Given the description of an element on the screen output the (x, y) to click on. 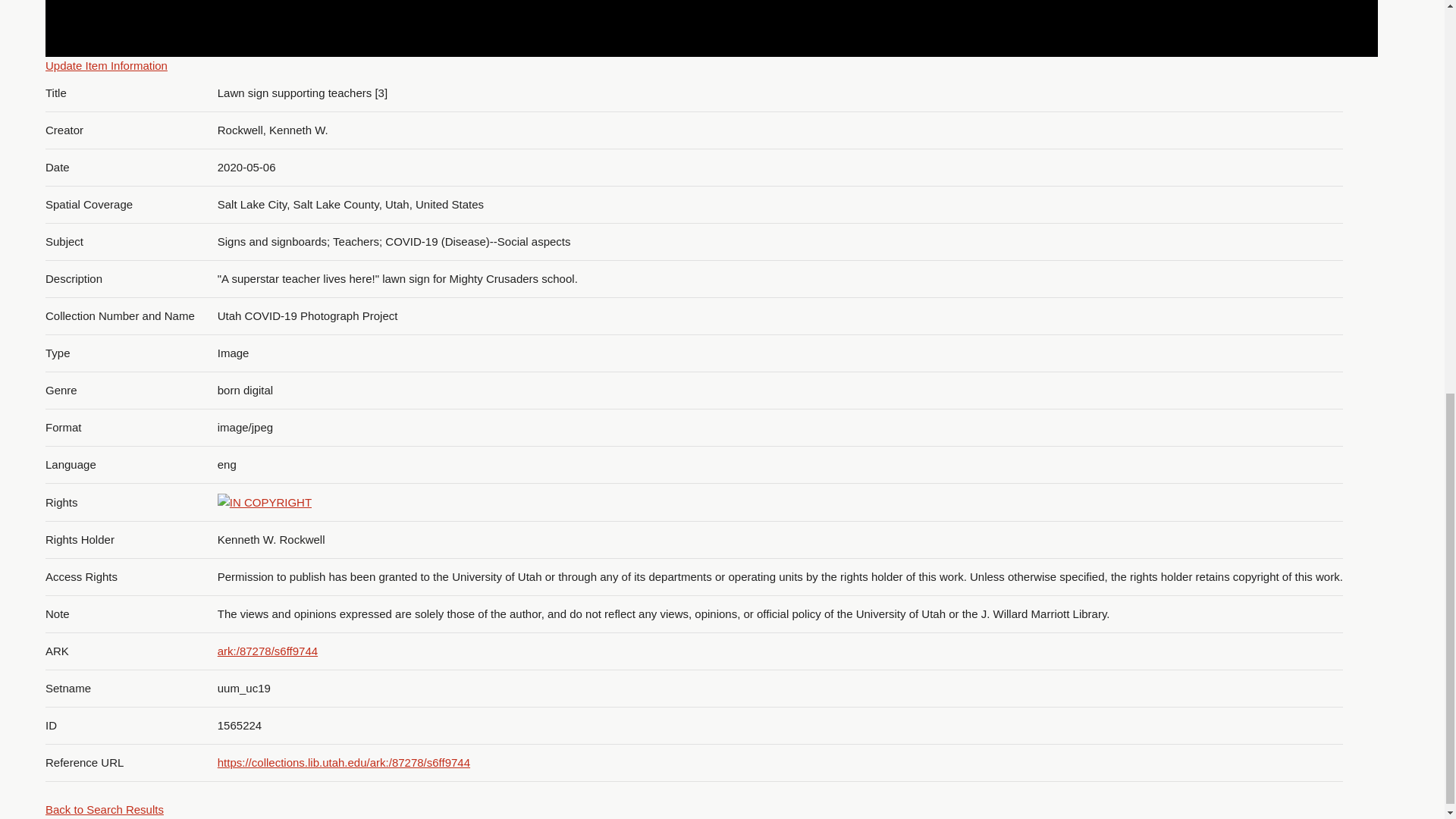
IN COPYRIGHT (263, 502)
Update Item Information (106, 65)
Back to Search Results (104, 809)
